Given the description of an element on the screen output the (x, y) to click on. 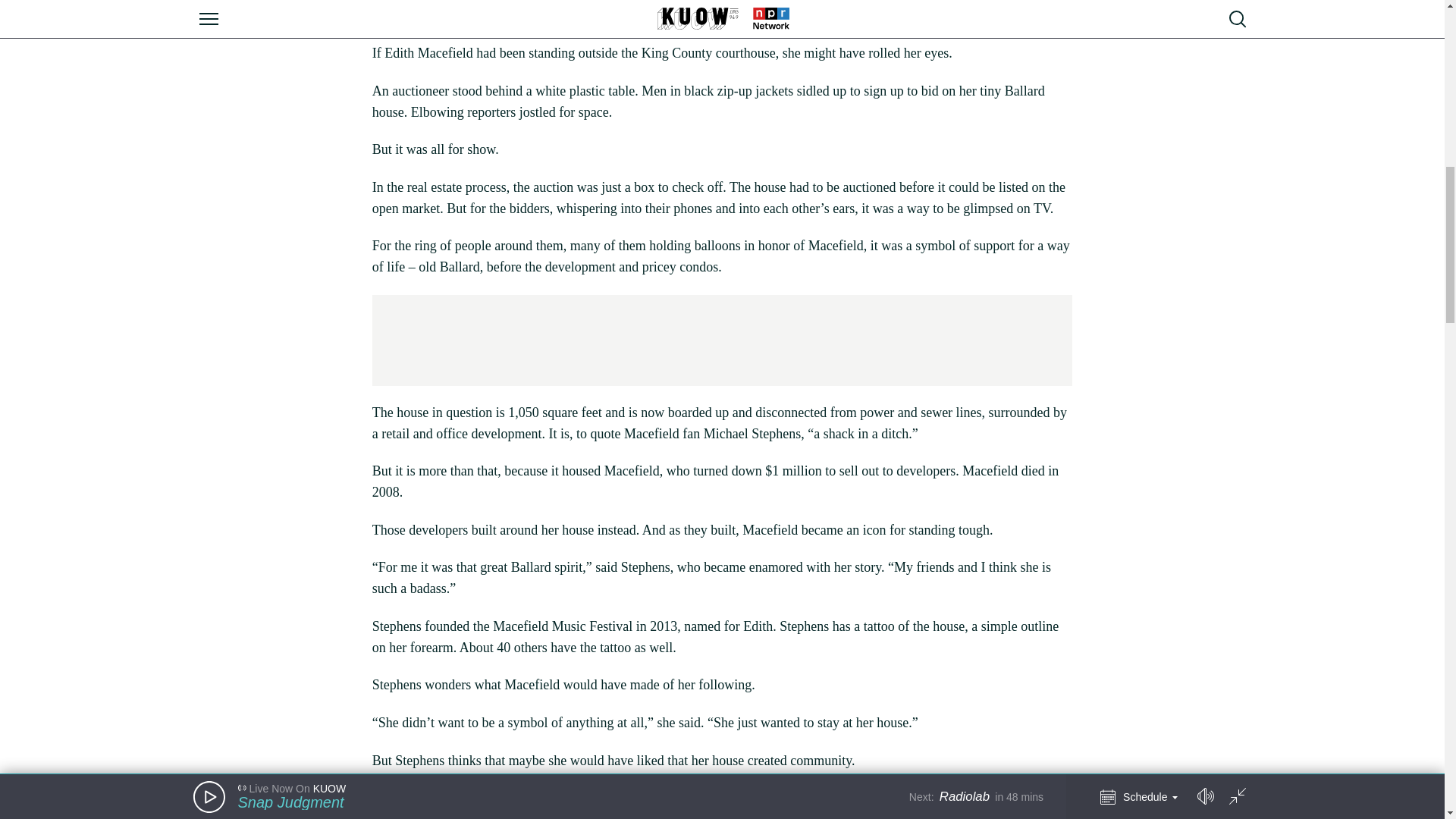
3rd party ad content (721, 340)
